Given the description of an element on the screen output the (x, y) to click on. 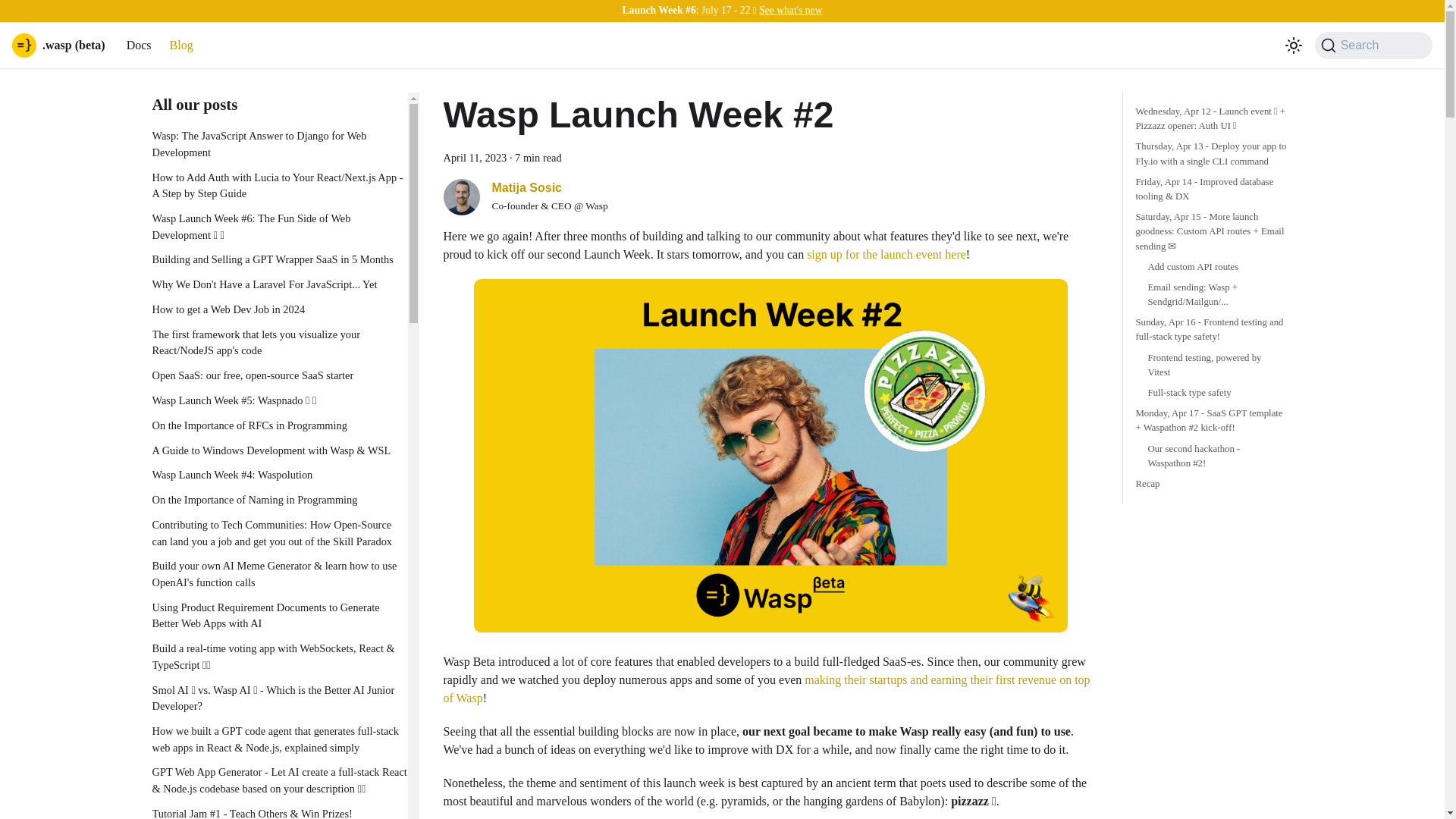
How to get a Web Dev Job in 2024 (279, 310)
Docs (138, 45)
Search (1373, 44)
Open SaaS: our free, open-source SaaS starter (279, 375)
Wasp: The JavaScript Answer to Django for Web Development (279, 143)
See what's new (790, 9)
Blog (181, 45)
On the Importance of RFCs in Programming (279, 425)
